Given the description of an element on the screen output the (x, y) to click on. 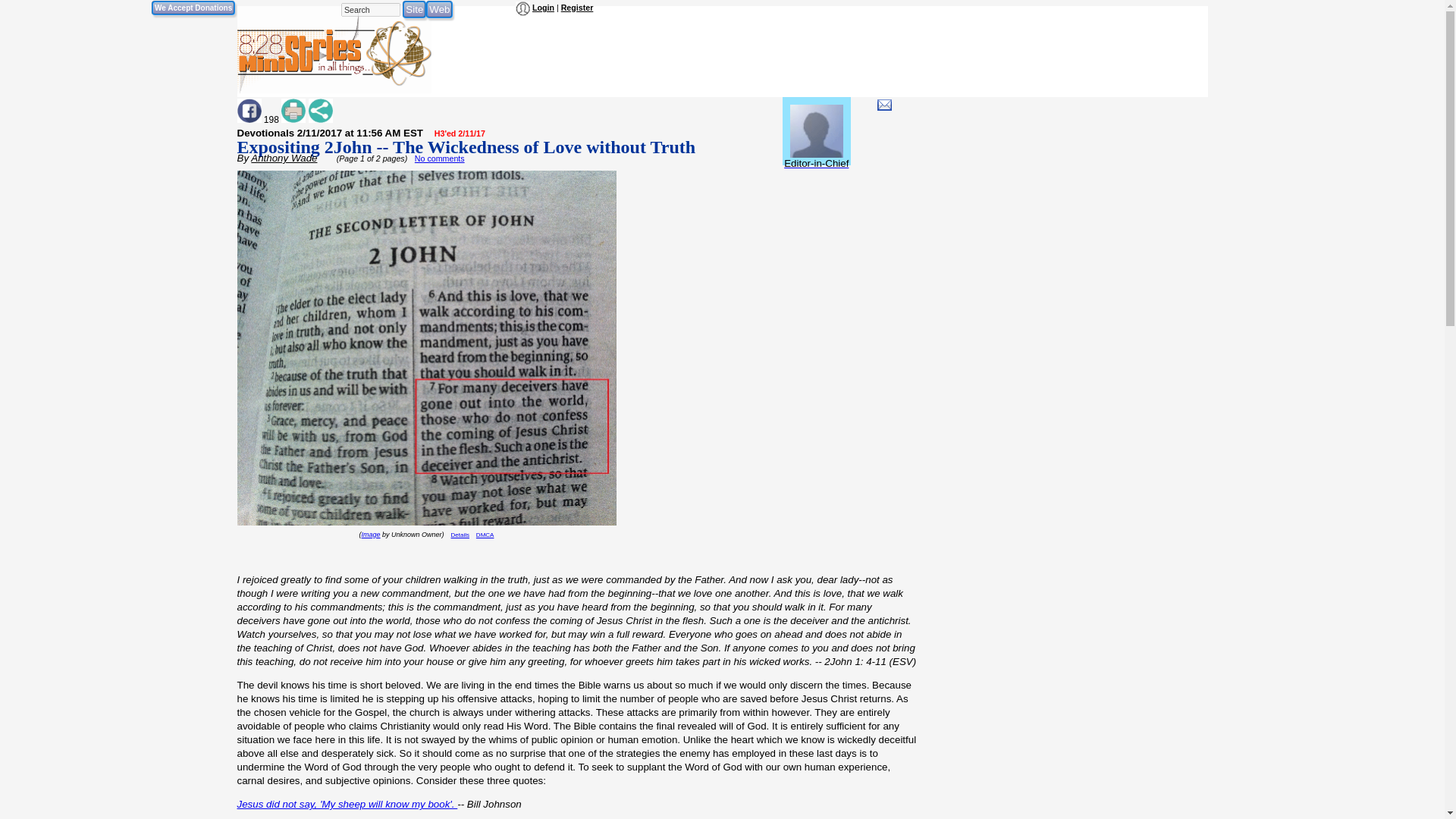
Printer Friendly Page (293, 110)
Site (414, 9)
Message Anthony Wade (884, 104)
Web (439, 9)
Login (543, 7)
Web (439, 9)
DMCA (485, 534)
Anthony Wade (283, 157)
We Accept Donations (192, 7)
No comments (439, 157)
We Accept Donations (192, 7)
Details (459, 534)
Jesus did not say, 'My sheep will know my book'. (346, 803)
Site (414, 9)
Register (577, 7)
